Given the description of an element on the screen output the (x, y) to click on. 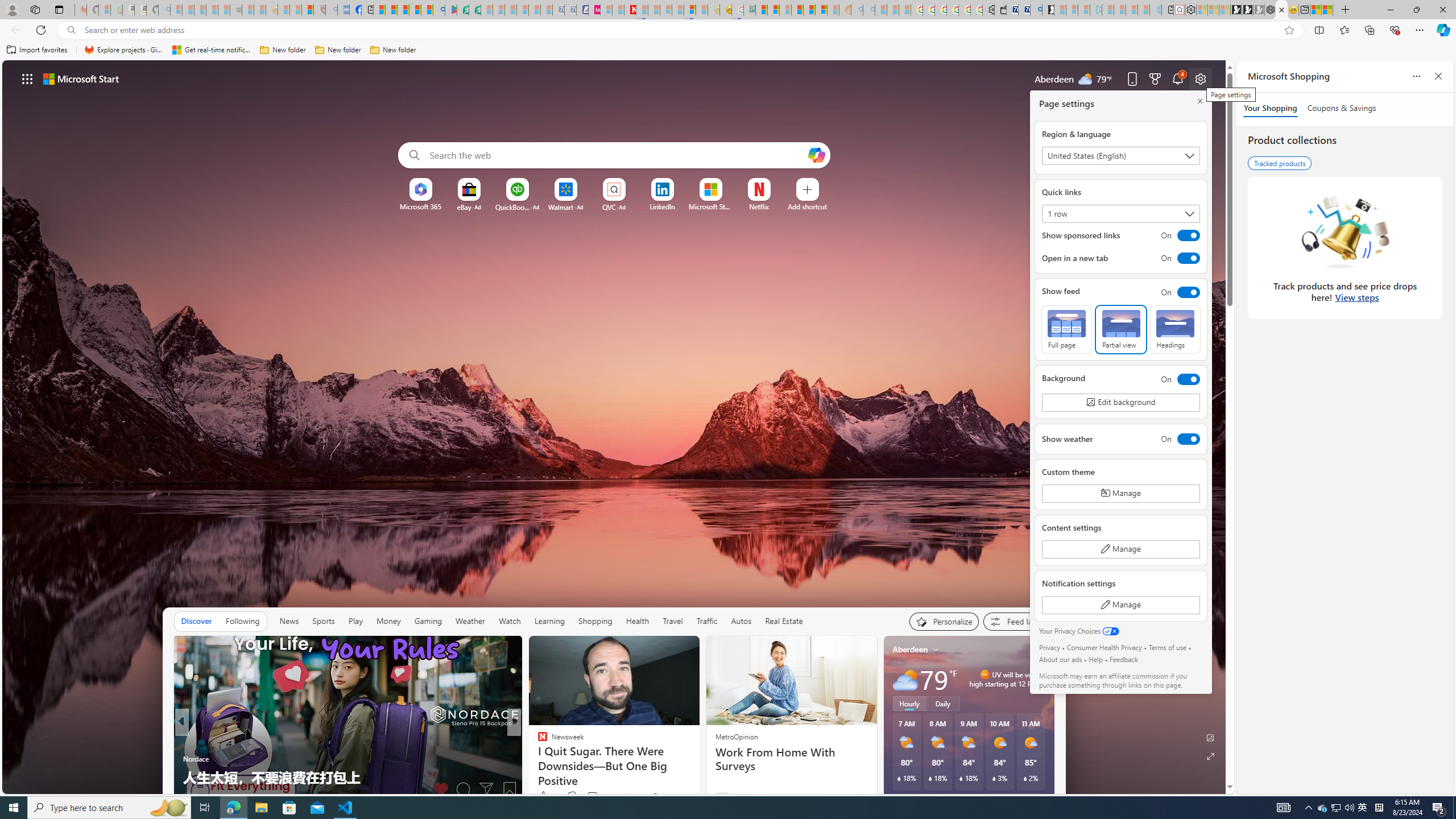
Add a site (807, 206)
New Report Confirms 2023 Was Record Hot | Watch - Sleeping (223, 9)
Feed settings (1018, 621)
Play (355, 621)
Daily (942, 703)
Terms of use (1167, 646)
Home | Sky Blue Bikes - Sky Blue Bikes - Sleeping (1155, 9)
Enter your search term (617, 155)
